Given the description of an element on the screen output the (x, y) to click on. 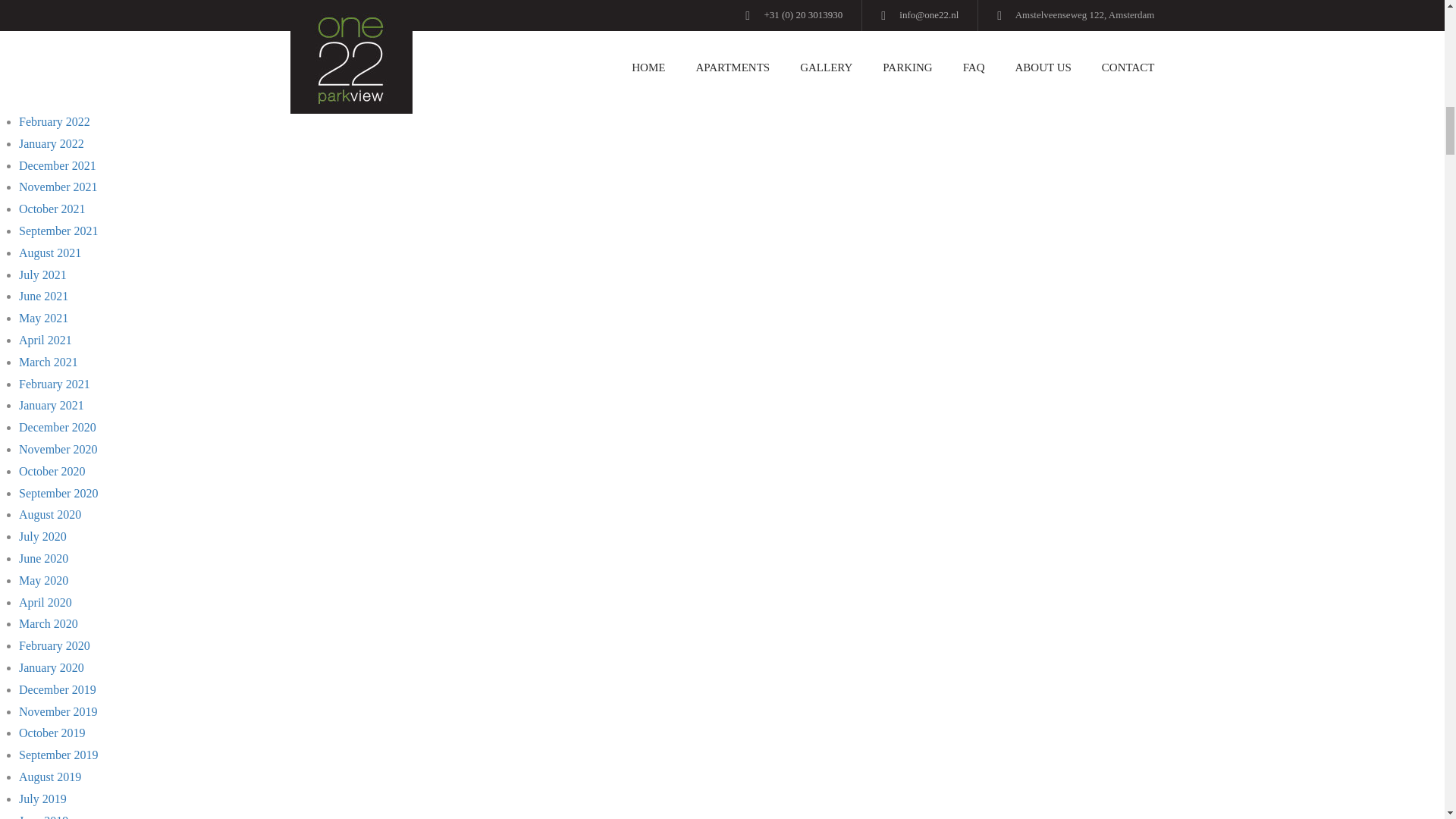
August 2021 (49, 252)
June 2021 (43, 295)
March 2021 (48, 361)
December 2021 (57, 164)
May 2021 (43, 318)
November 2021 (57, 186)
October 2021 (51, 208)
May 2022 (43, 56)
February 2022 (54, 121)
April 2021 (44, 339)
July 2021 (42, 274)
April 2022 (44, 77)
September 2021 (57, 230)
January 2022 (51, 143)
March 2022 (48, 99)
